Given the description of an element on the screen output the (x, y) to click on. 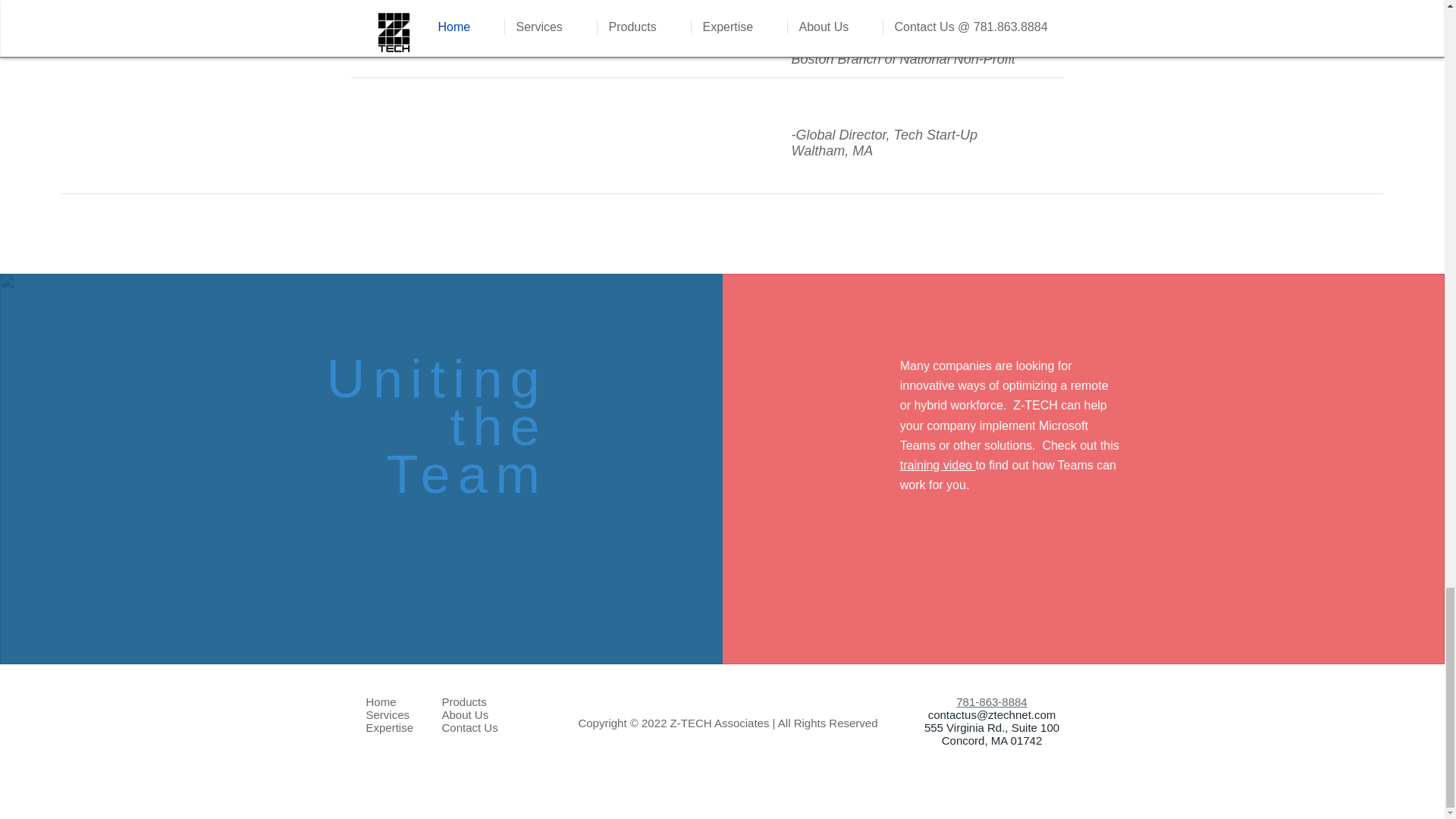
781-863-8884 (991, 701)
Services (387, 714)
Expertise (389, 727)
About Us (464, 714)
Contact Us (469, 727)
Home (380, 701)
Products (463, 701)
training video (937, 464)
